Given the description of an element on the screen output the (x, y) to click on. 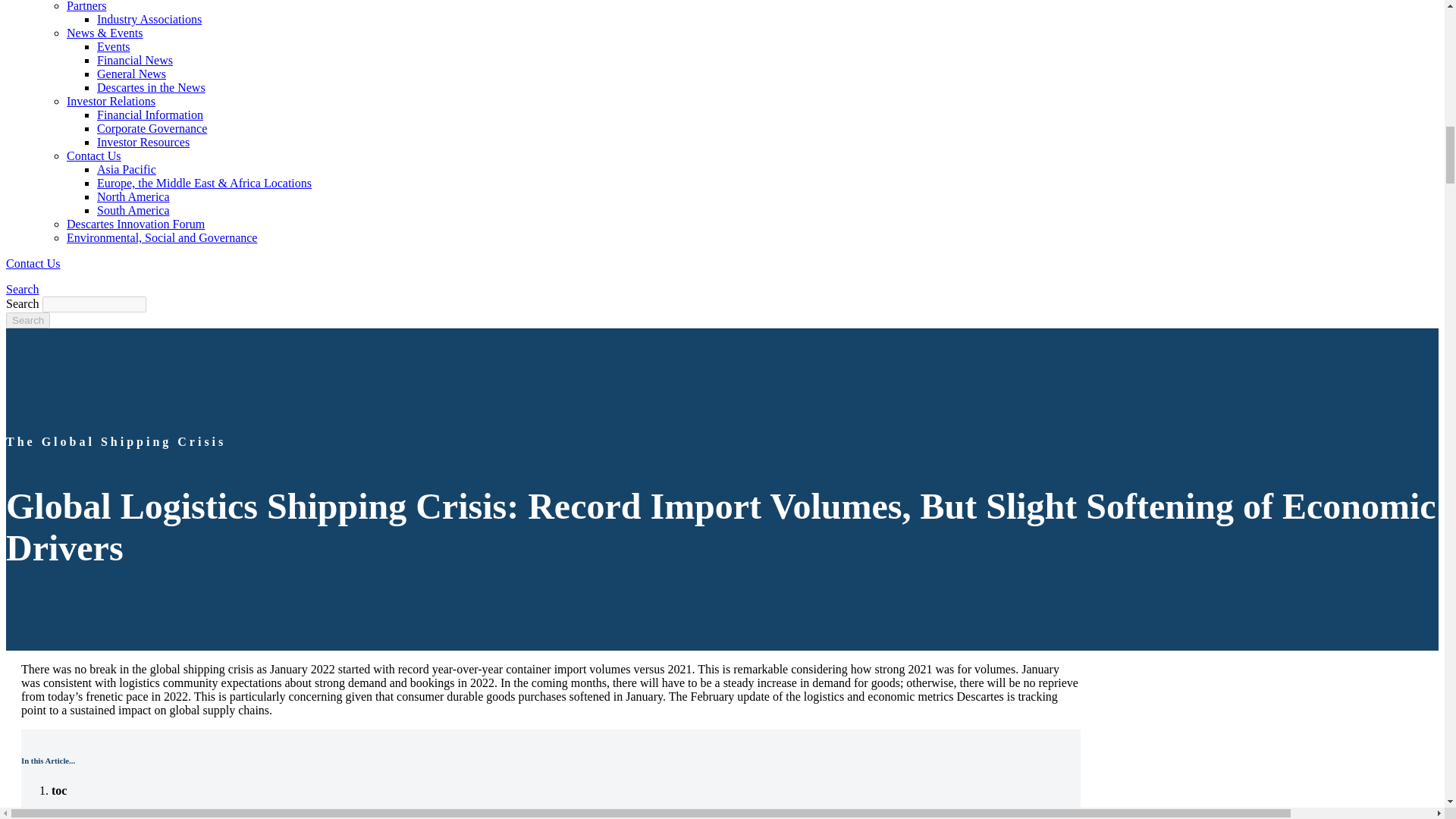
Search (27, 320)
Search (27, 320)
